Given the description of an element on the screen output the (x, y) to click on. 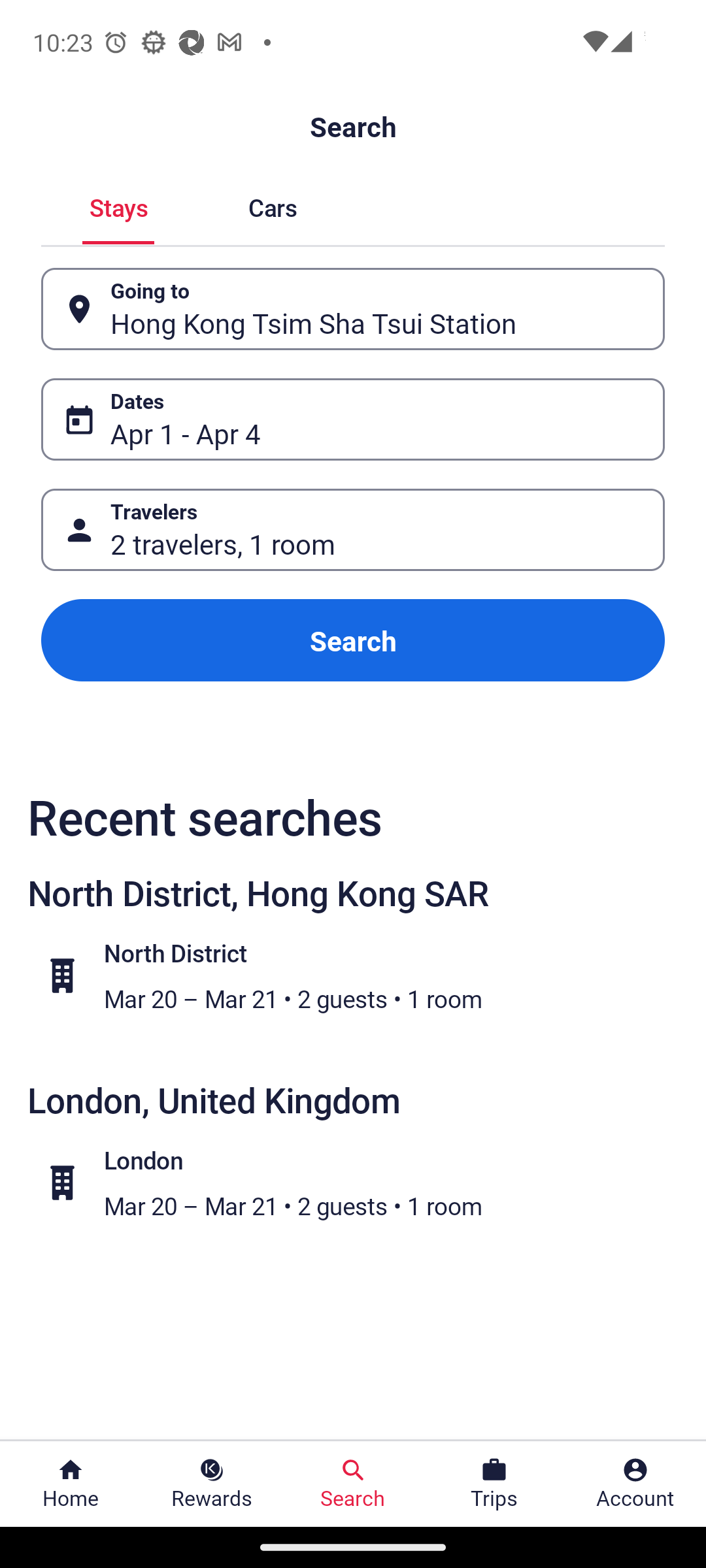
Cars (272, 205)
Going to Button Hong Kong Tsim Sha Tsui Station (352, 308)
Dates Button Apr 1 - Apr 4 (352, 418)
Travelers Button 2 travelers, 1 room (352, 529)
Search (352, 640)
North District Mar 20 – Mar 21 • 2 guests • 1 room (363, 974)
London Mar 20 – Mar 21 • 2 guests • 1 room (363, 1181)
Home Home Button (70, 1483)
Rewards Rewards Button (211, 1483)
Trips Trips Button (493, 1483)
Account Profile. Button (635, 1483)
